Given the description of an element on the screen output the (x, y) to click on. 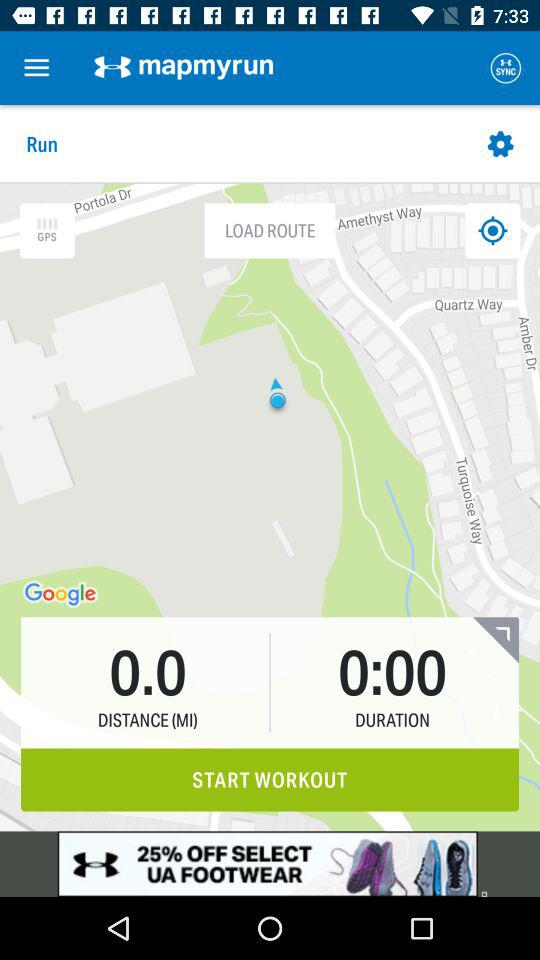
expand symbol (495, 640)
